Given the description of an element on the screen output the (x, y) to click on. 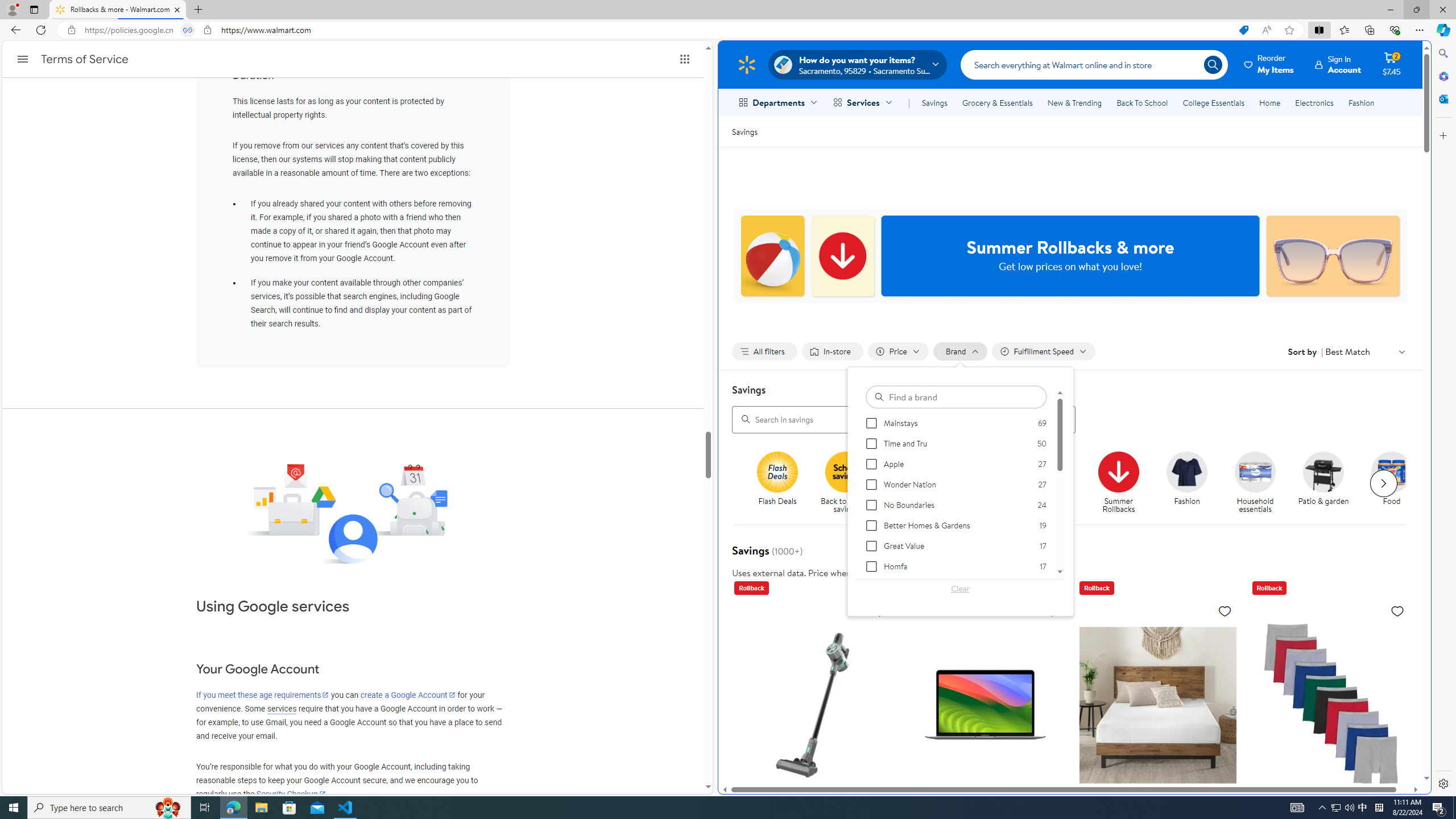
Filter by Brand not applied, activate to change (960, 351)
Filter by In-store (831, 351)
Flash Deals (782, 483)
Back to School savings Back to school savings (845, 483)
Close Outlook pane (1442, 98)
Fashion Fashion (1187, 478)
